Given the description of an element on the screen output the (x, y) to click on. 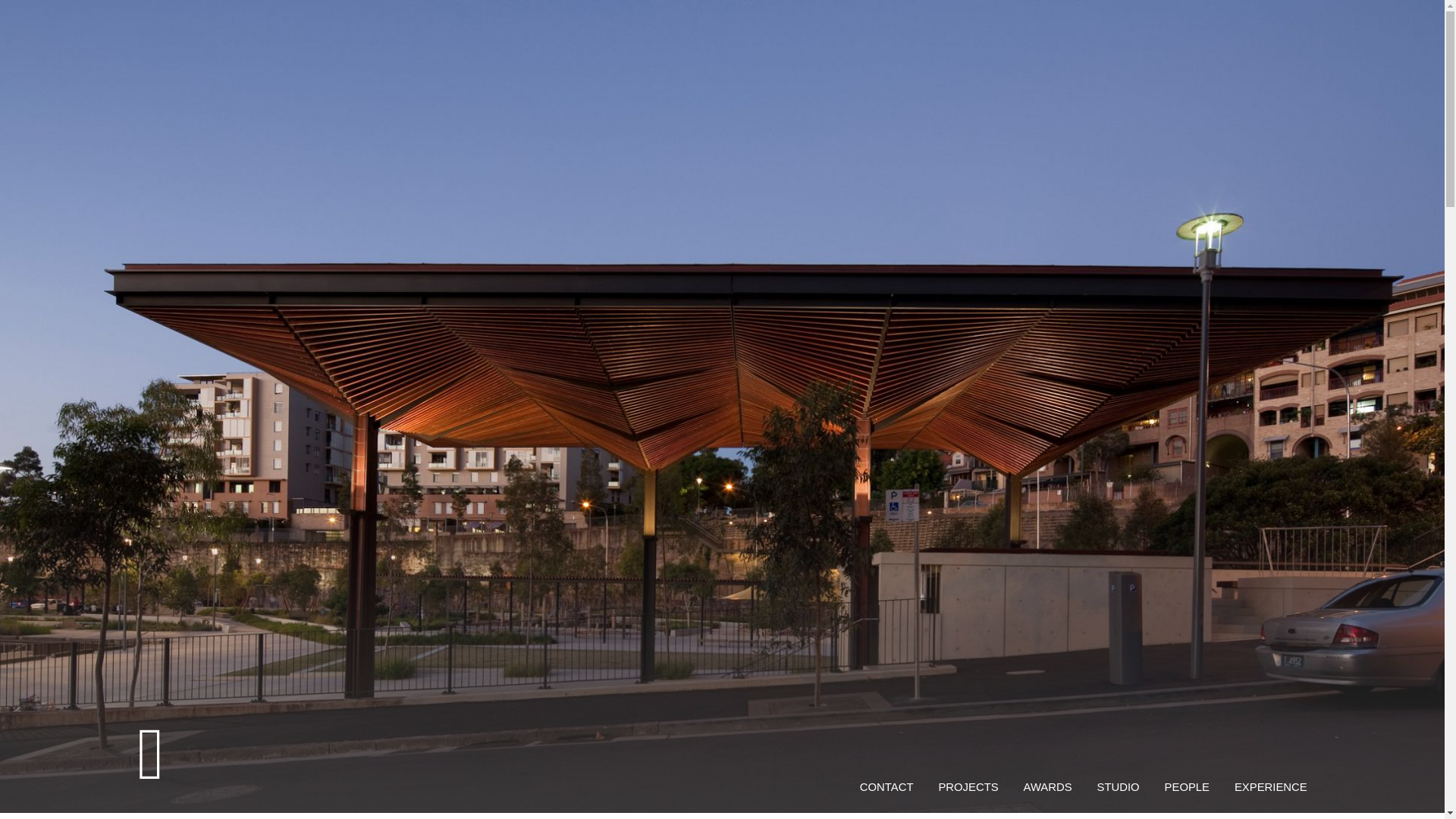
Hill Thalis Architecture + Urban Projects Pty Ltd Element type: text (429, 746)
AWARDS Element type: text (1047, 786)
PEOPLE Element type: text (1186, 786)
EXPERIENCE Element type: text (1270, 786)
CONTACT Element type: text (886, 786)
PROJECTS Element type: text (967, 786)
STUDIO Element type: text (1118, 786)
